Given the description of an element on the screen output the (x, y) to click on. 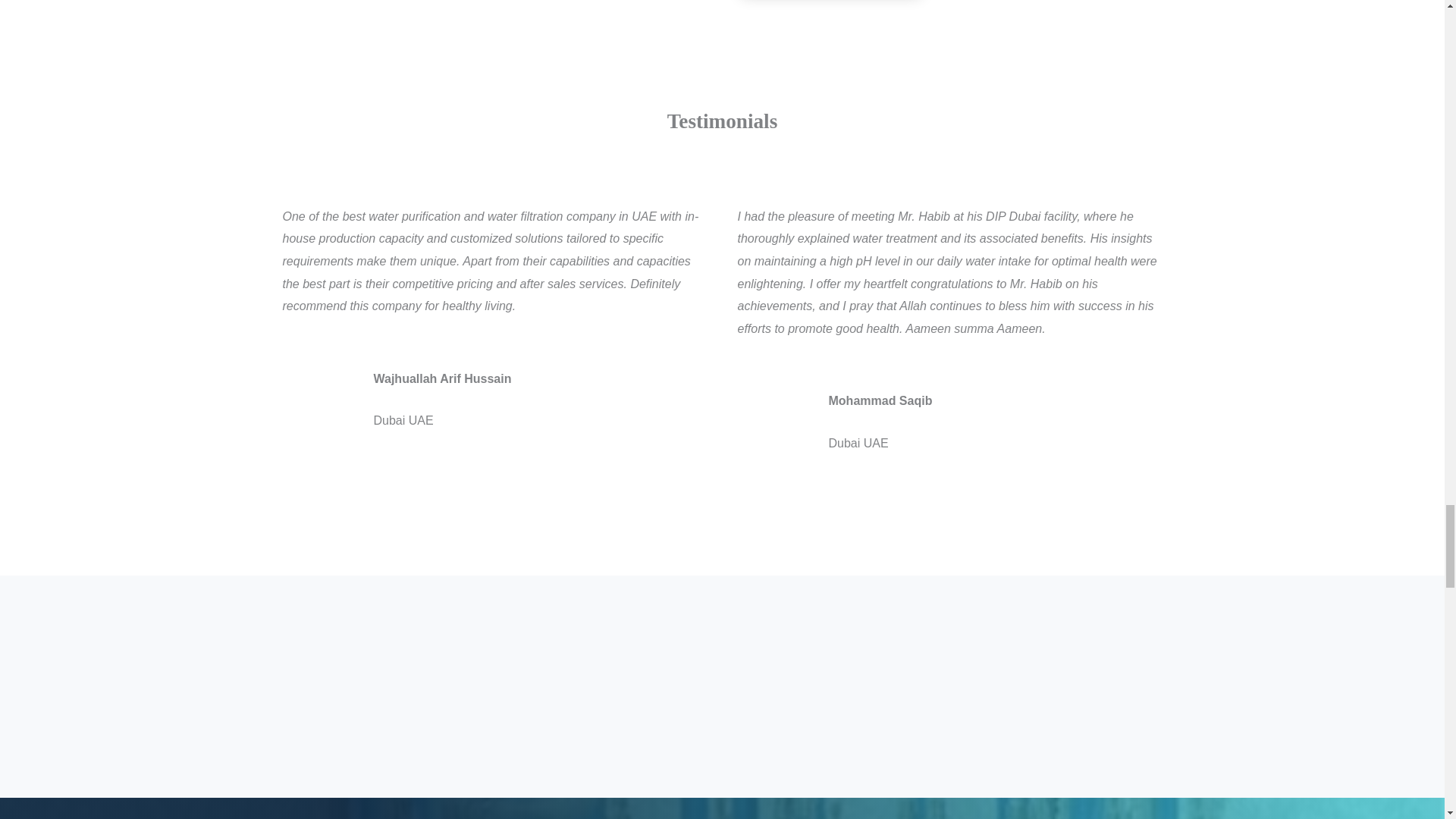
l-al-futaim (342, 638)
l-carrefour (493, 638)
l-cremolata (342, 734)
